Given the description of an element on the screen output the (x, y) to click on. 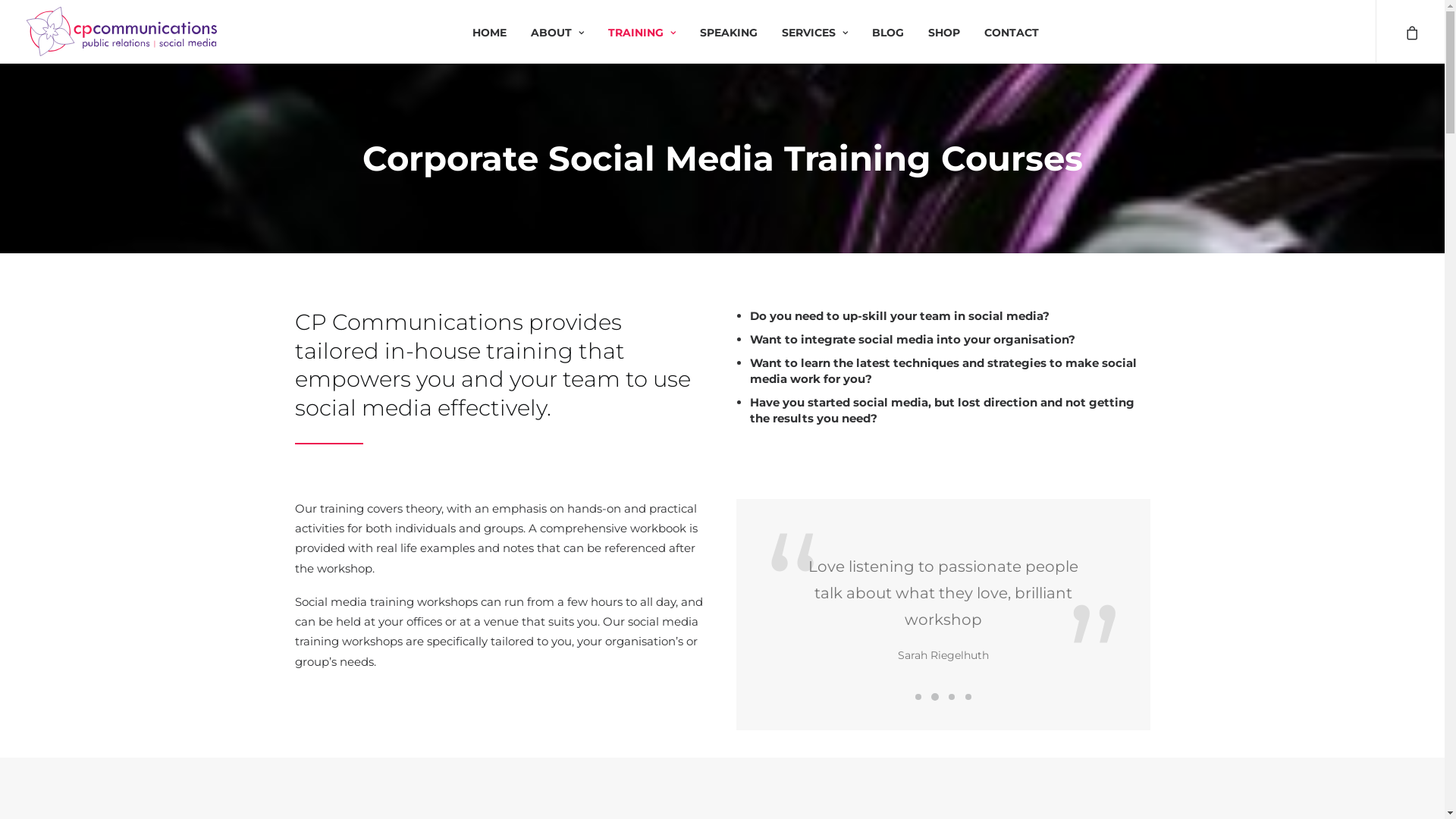
SERVICES Element type: text (814, 31)
ABOUT Element type: text (557, 31)
SPEAKING Element type: text (728, 31)
TRAINING Element type: text (641, 31)
Sarah Riegelhuth Element type: text (942, 655)
HOME Element type: text (489, 31)
CONTACT Element type: text (1011, 31)
BLOG Element type: text (887, 31)
cart Element type: hover (1410, 31)
SHOP Element type: text (943, 31)
